Given the description of an element on the screen output the (x, y) to click on. 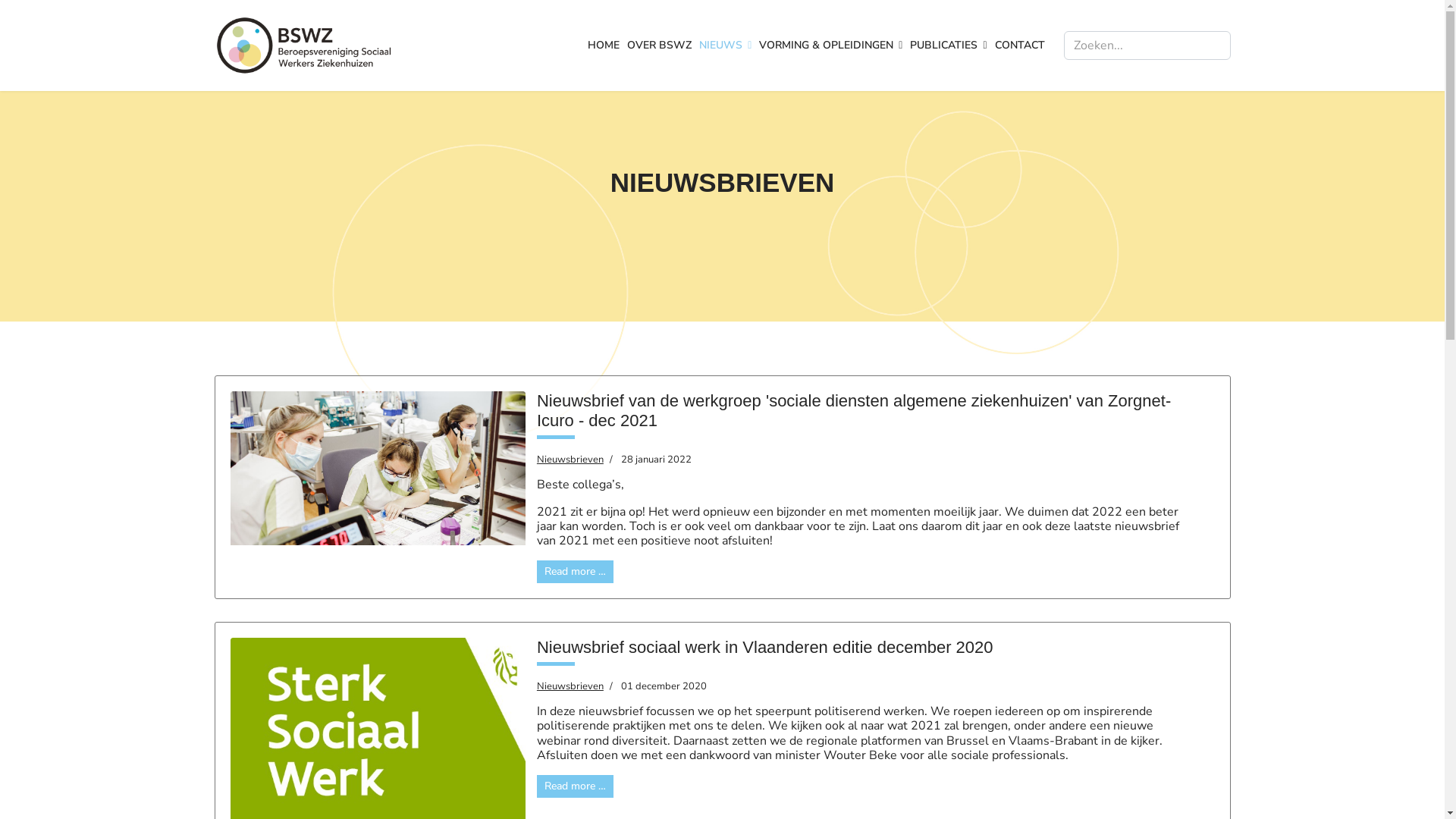
Nieuwsbrieven Element type: text (569, 686)
OVER BSWZ Element type: text (659, 45)
HOME Element type: text (603, 45)
Nieuwsbrief sociaal werk in Vlaanderen editie december 2020 Element type: text (764, 646)
CONTACT Element type: text (1017, 45)
PUBLICATIES Element type: text (948, 45)
NIEUWS Element type: text (725, 45)
Nieuwsbrieven Element type: text (569, 459)
